Given the description of an element on the screen output the (x, y) to click on. 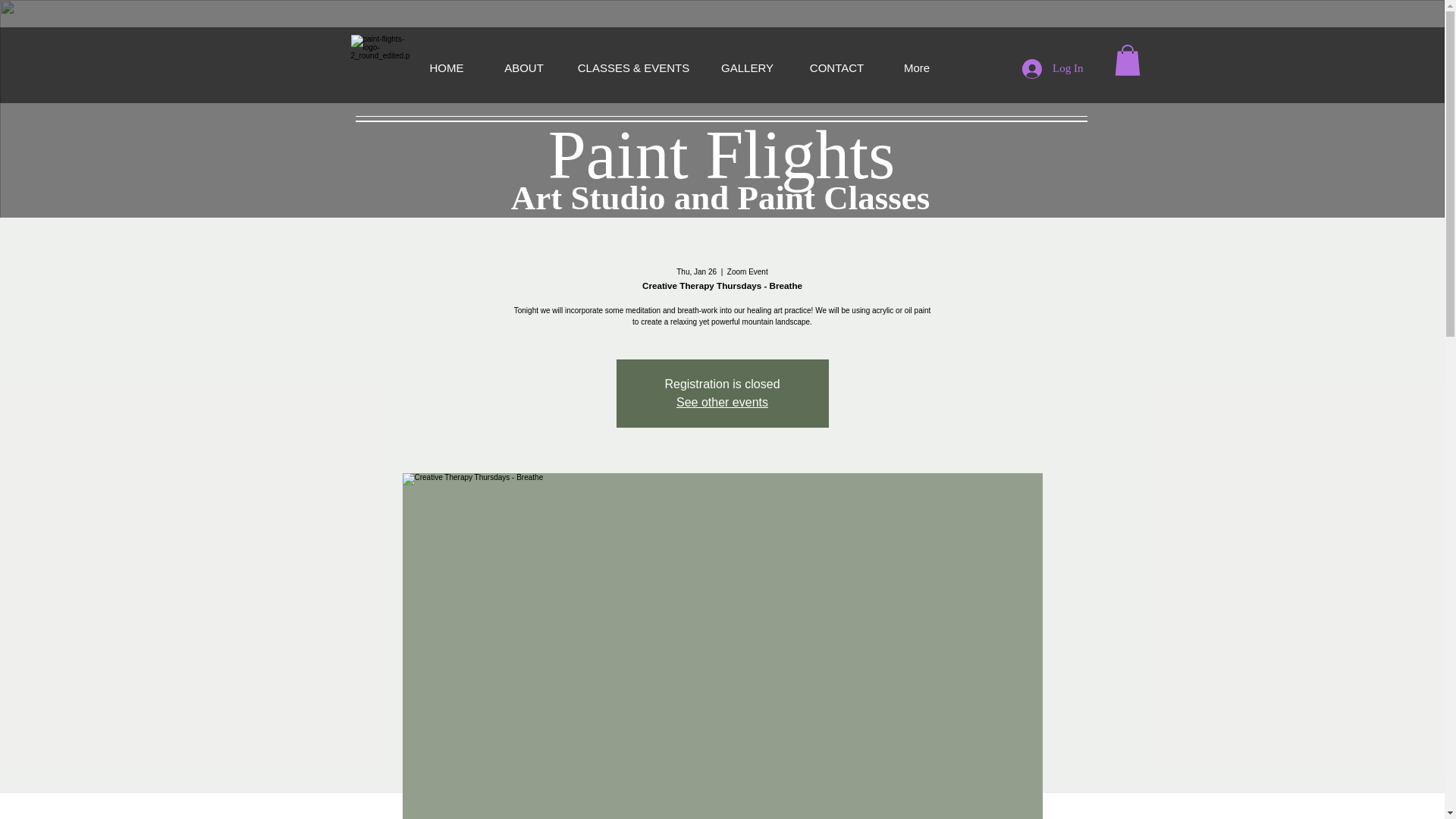
See other events (722, 401)
Log In (1052, 68)
CONTACT (837, 67)
GALLERY (747, 67)
ABOUT (523, 67)
HOME (446, 67)
